Given the description of an element on the screen output the (x, y) to click on. 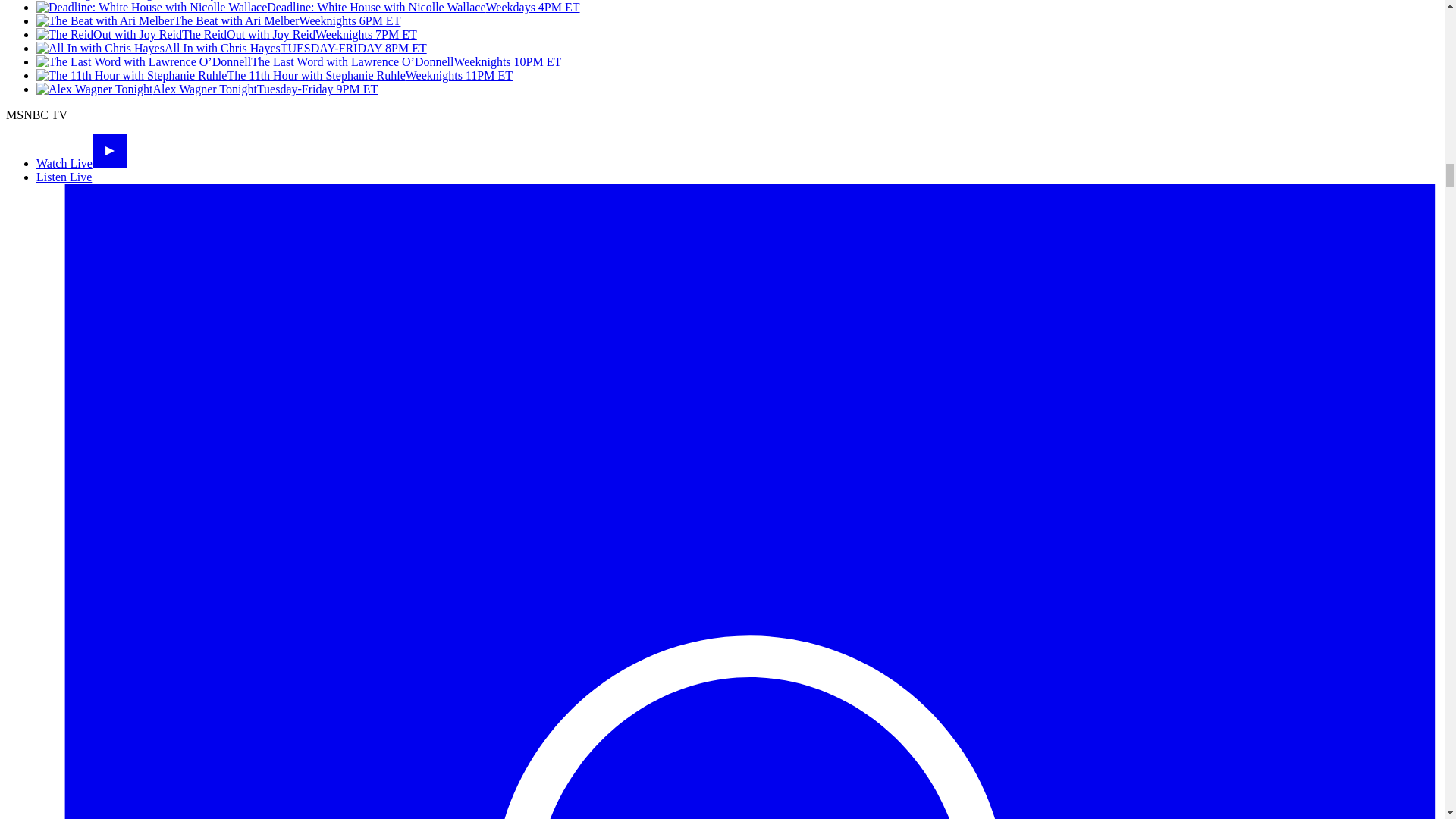
The ReidOut with Joy ReidWeeknights 7PM ET (226, 33)
Alex Wagner TonightTuesday-Friday 9PM ET (206, 88)
Watch Live (82, 163)
Deadline: White House with Nicolle WallaceWeekdays 4PM ET (307, 6)
All In with Chris HayesTUESDAY-FRIDAY 8PM ET (231, 47)
The Beat with Ari MelberWeeknights 6PM ET (218, 20)
The 11th Hour with Stephanie RuhleWeeknights 11PM ET (274, 74)
